Given the description of an element on the screen output the (x, y) to click on. 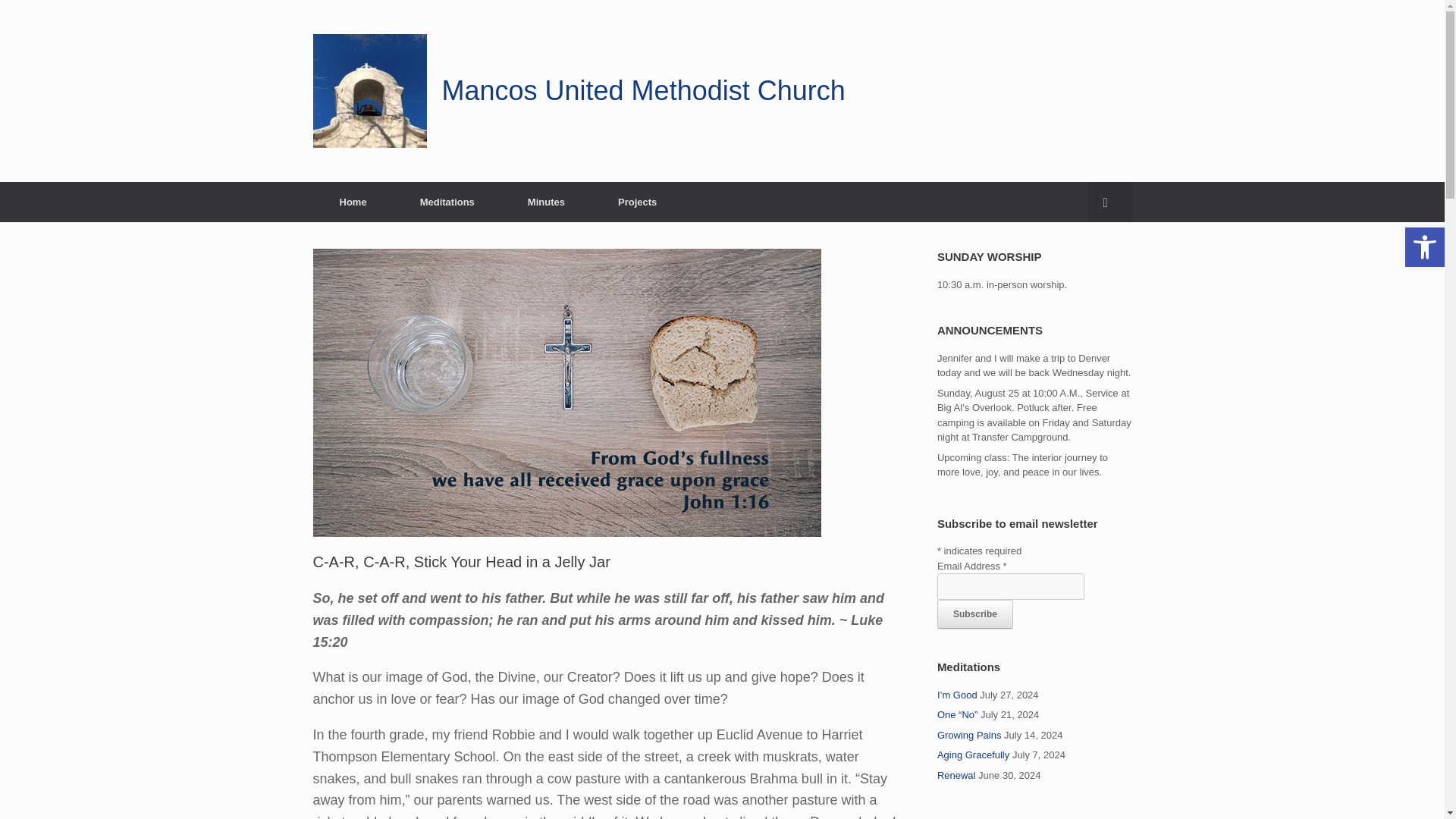
Projects (636, 201)
Mancos United Methodist Church (578, 91)
Renewal (956, 774)
Mancos United Methodist Church (578, 91)
Home (353, 201)
Minutes (545, 201)
Aging Gracefully (973, 754)
Subscribe (975, 613)
Subscribe (975, 613)
Accessibility Tools (1424, 247)
Meditations (446, 201)
Growing Pains (969, 735)
